Given the description of an element on the screen output the (x, y) to click on. 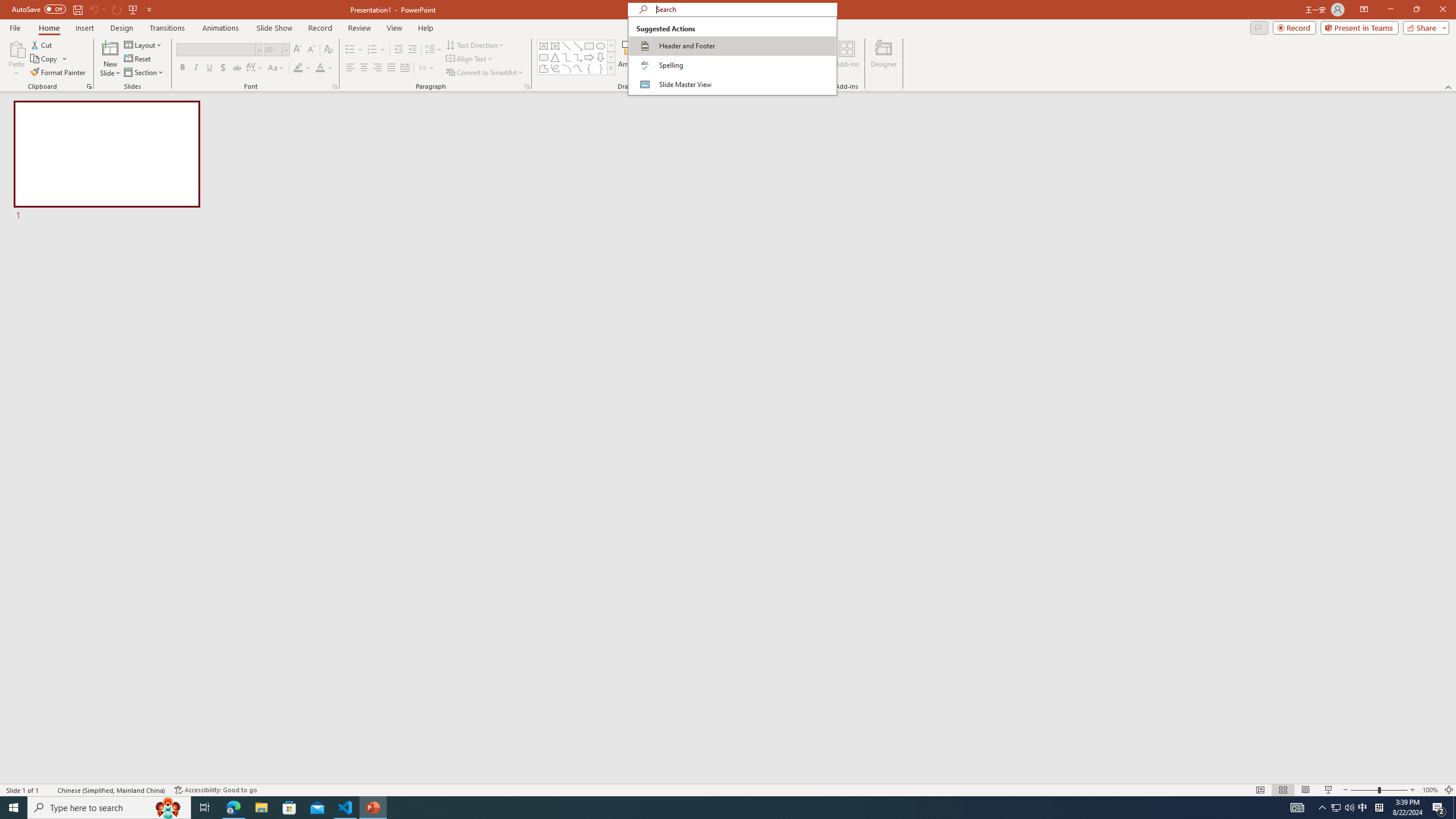
Slide Master View (731, 84)
